Given the description of an element on the screen output the (x, y) to click on. 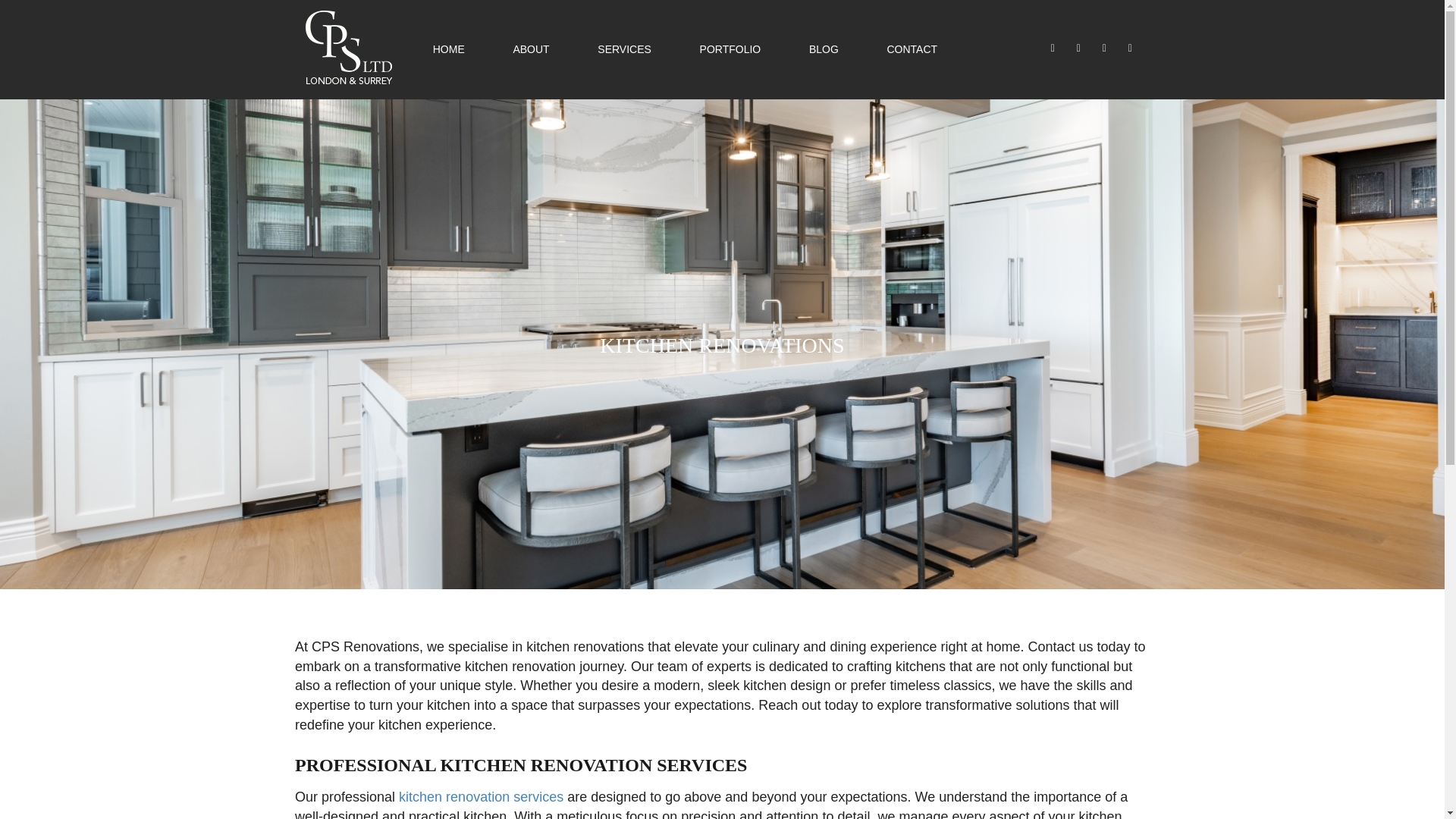
BLOG (823, 49)
Follow Us on Instagram (1079, 47)
CONTACT (911, 49)
PORTFOLIO (730, 49)
HOME (448, 49)
kitchen renovation services (480, 796)
SERVICES (623, 49)
ABOUT (530, 49)
